Given the description of an element on the screen output the (x, y) to click on. 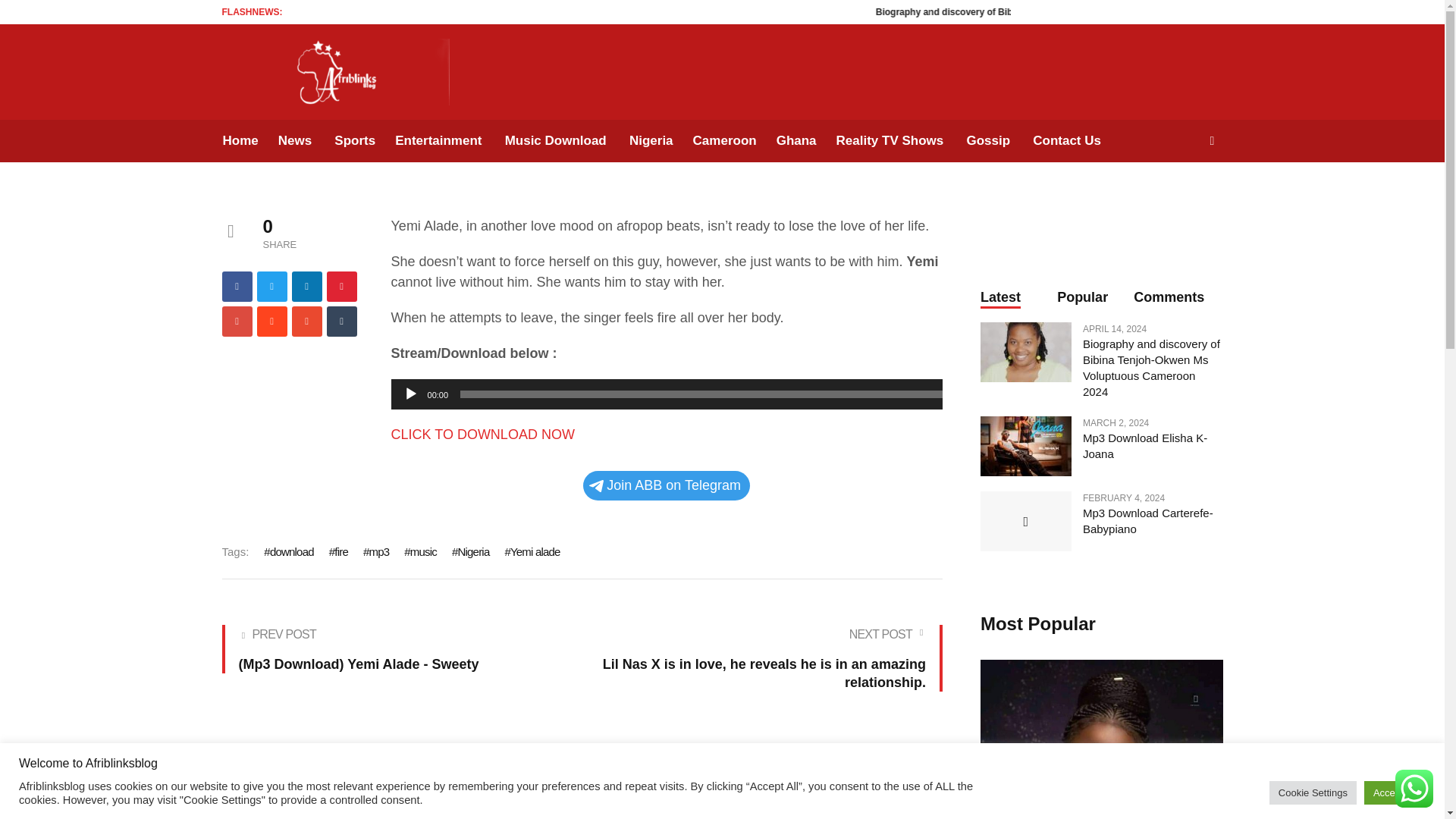
Cameroon (724, 140)
News (294, 140)
Nigeria (651, 140)
Home (244, 140)
Entertainment (438, 140)
Sports (354, 140)
Music Download (555, 140)
